Given the description of an element on the screen output the (x, y) to click on. 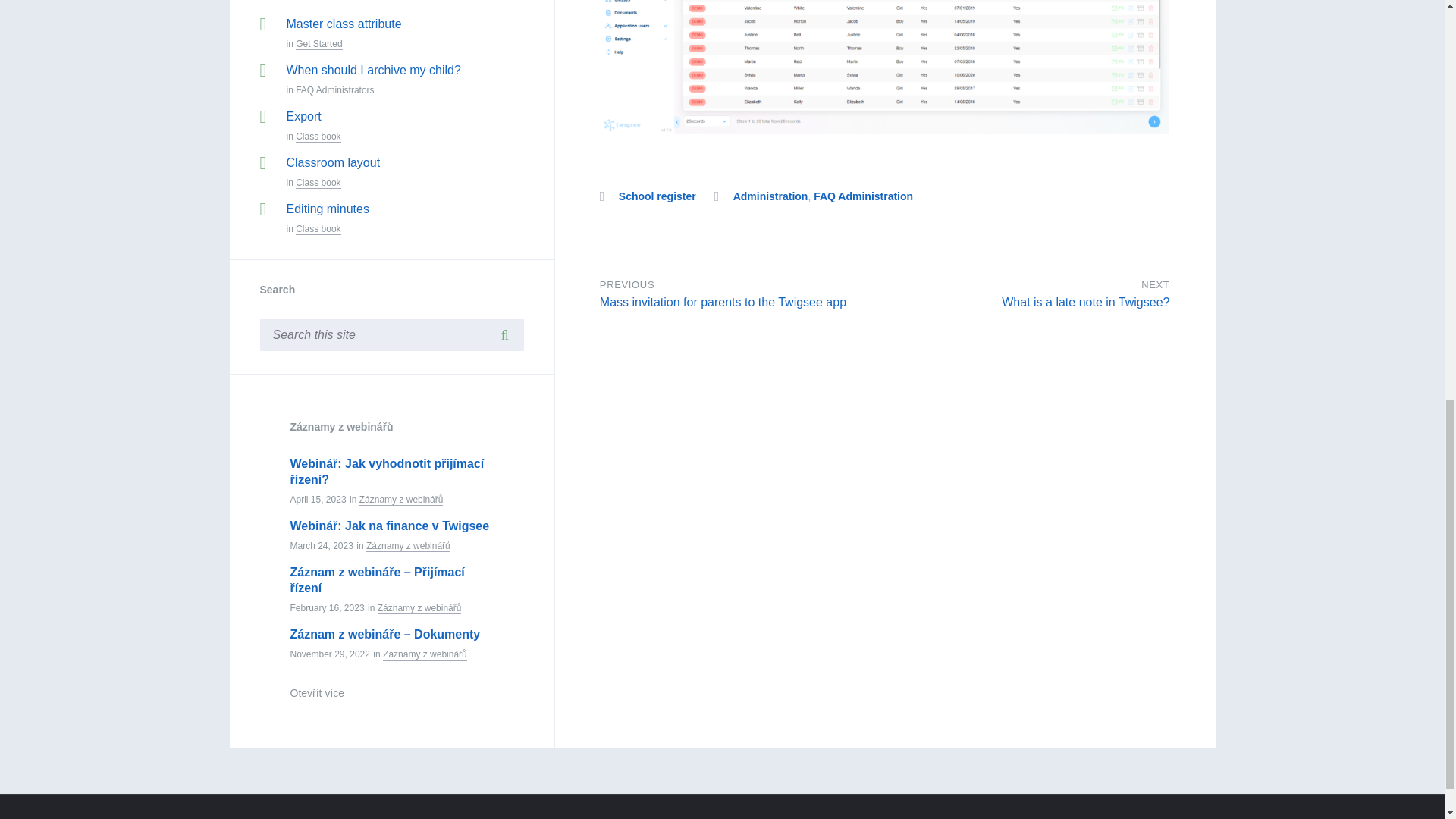
FAQ Administration (862, 196)
School register (656, 196)
Mass invitation for parents to the Twigsee app (722, 301)
Administration (770, 196)
NEXT (1155, 284)
PREVIOUS (626, 284)
What is a late note in Twigsee? (1085, 301)
